Given the description of an element on the screen output the (x, y) to click on. 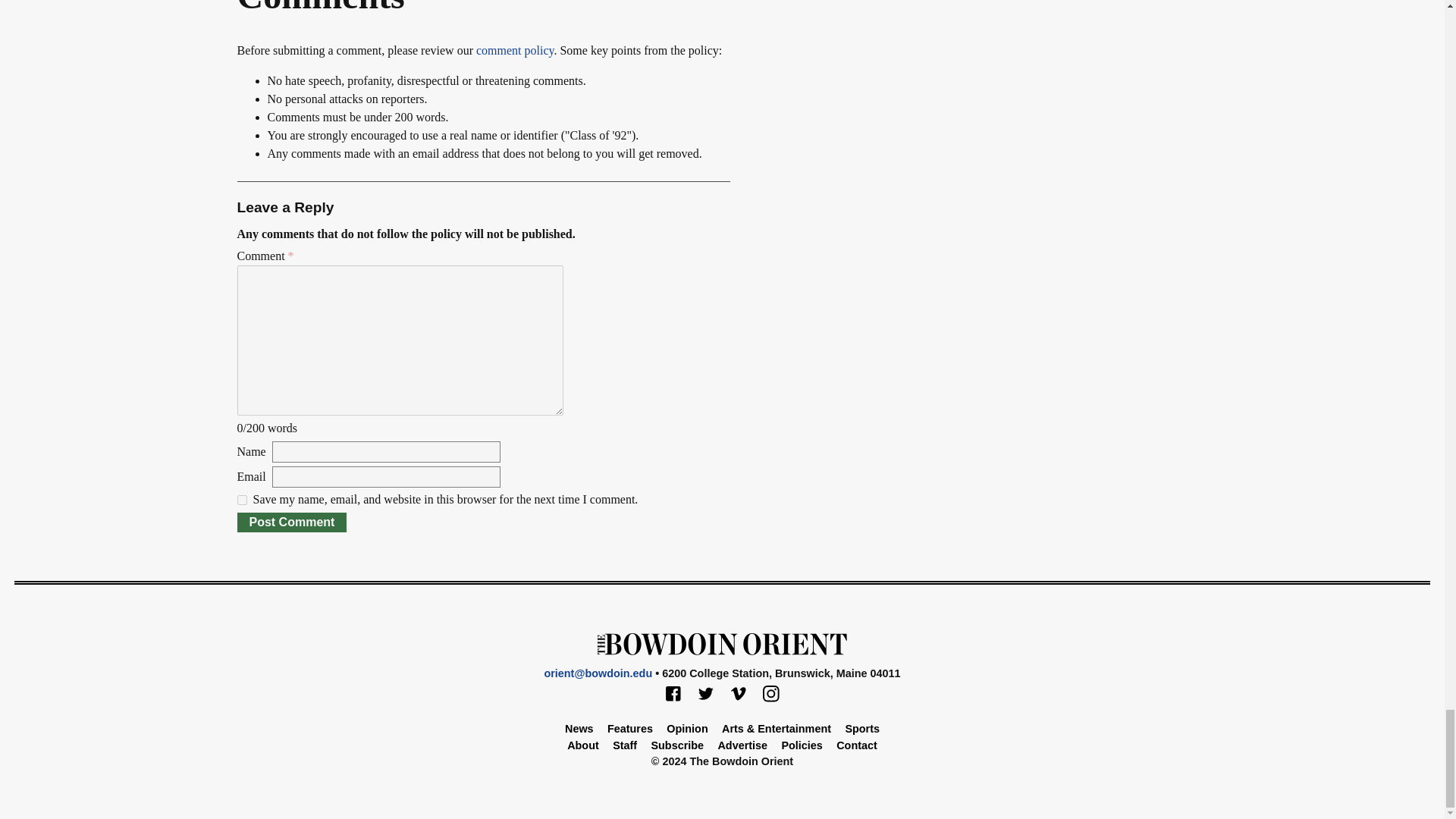
yes (240, 500)
Post Comment (290, 522)
